Given the description of an element on the screen output the (x, y) to click on. 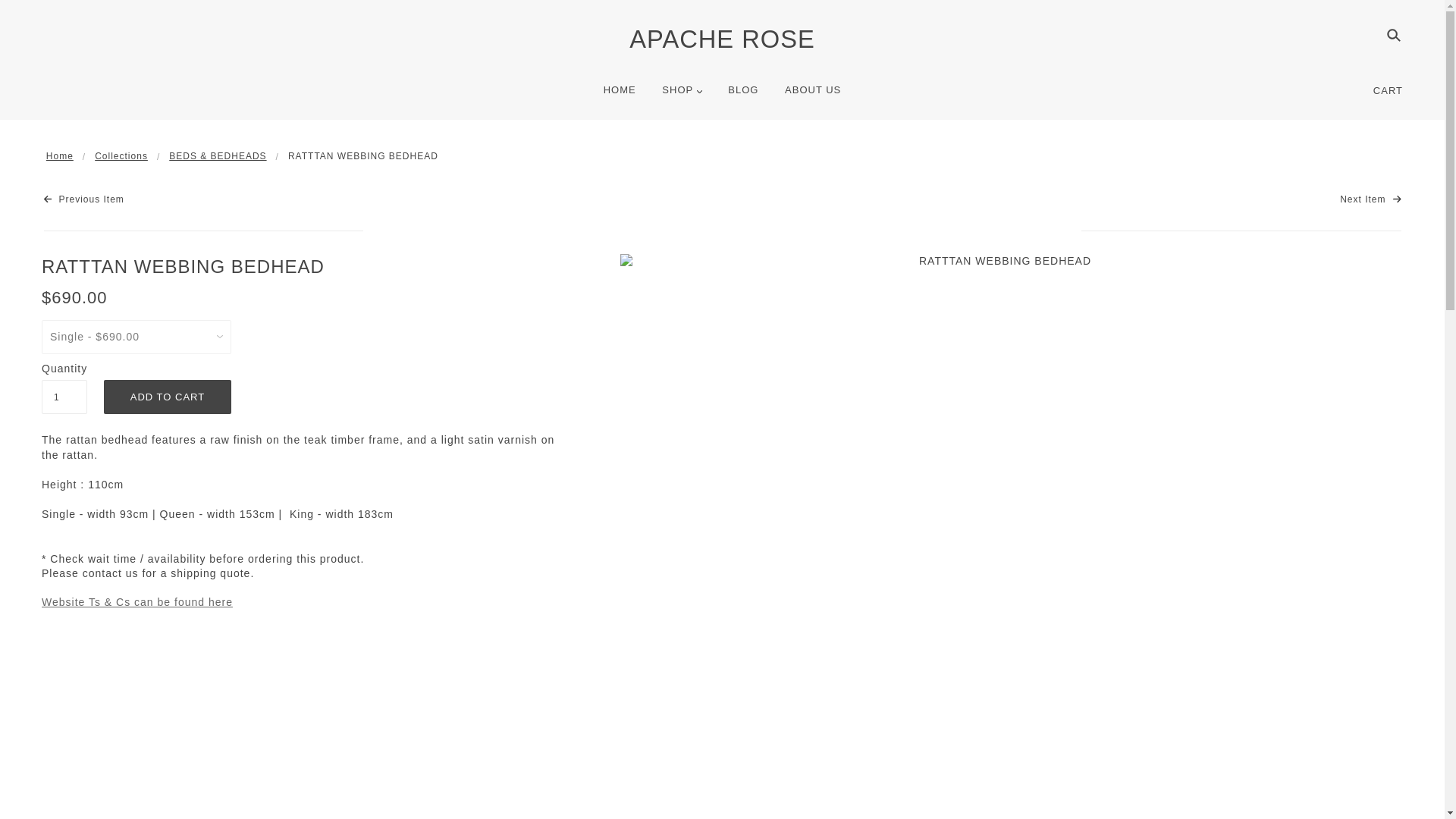
ETHNICRAFT OAK MADRA BED (1369, 199)
1 (64, 397)
BEDHEAD CURVED BOUCLE IVORY (83, 199)
Add to Cart (167, 397)
